Given the description of an element on the screen output the (x, y) to click on. 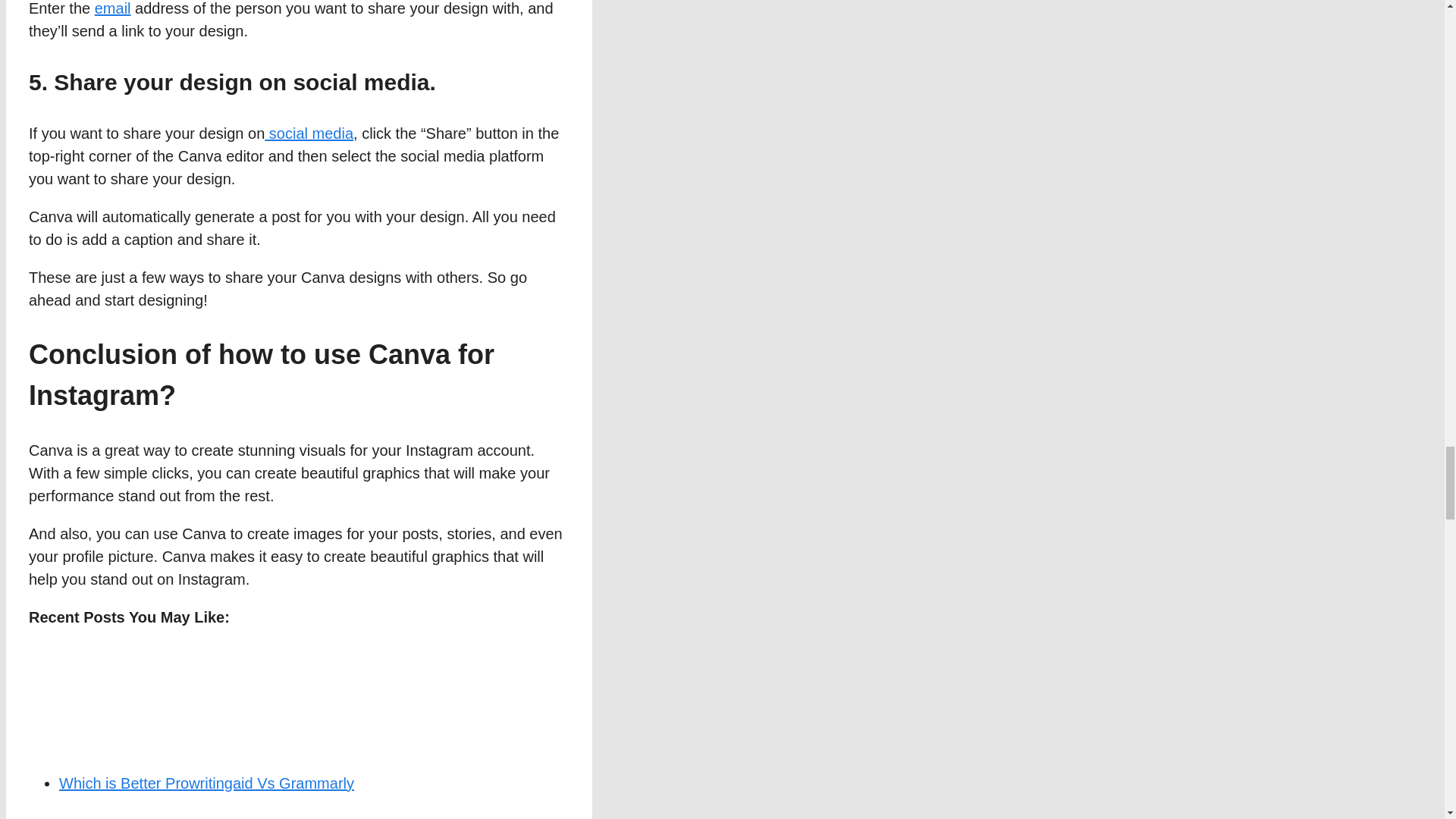
Which is Better Prowritingaid Vs Grammarly (206, 782)
email (112, 8)
social media (308, 133)
